Given the description of an element on the screen output the (x, y) to click on. 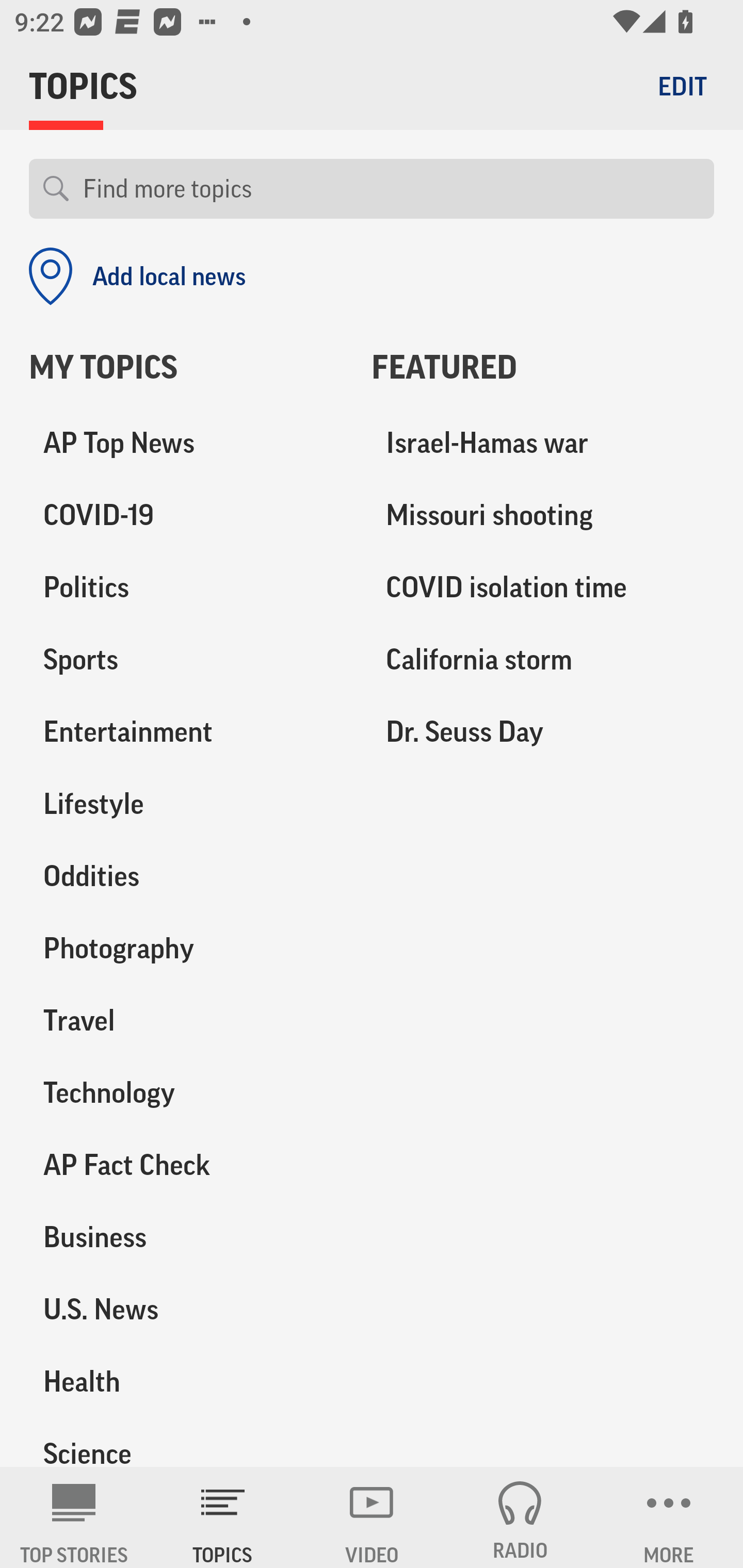
EDIT (682, 86)
Find more topics (391, 188)
Add local news (137, 276)
AP Top News (185, 443)
Israel-Hamas war (542, 443)
COVID-19 (185, 515)
Missouri shooting (542, 515)
Politics (185, 587)
COVID isolation time (542, 587)
Sports (185, 660)
California storm (542, 660)
Entertainment (185, 732)
Dr. Seuss Day (542, 732)
Lifestyle (185, 804)
Oddities (185, 876)
Photography (185, 948)
Travel (185, 1020)
Technology (185, 1092)
AP Fact Check (185, 1164)
Business (185, 1237)
U.S. News (185, 1309)
Health (185, 1381)
Science (185, 1442)
AP News TOP STORIES (74, 1517)
TOPICS (222, 1517)
VIDEO (371, 1517)
RADIO (519, 1517)
MORE (668, 1517)
